Given the description of an element on the screen output the (x, y) to click on. 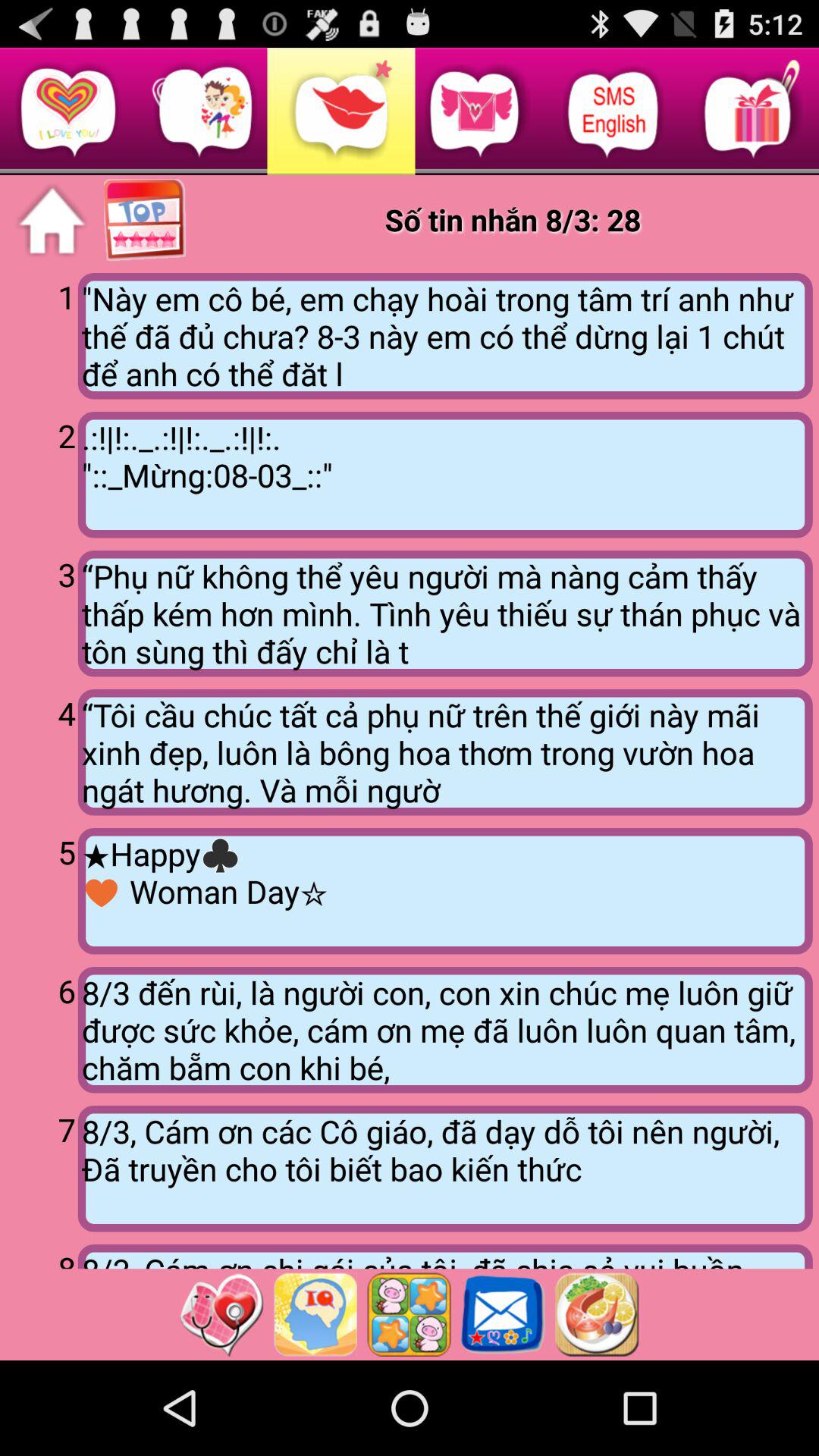
open questions (315, 1314)
